Given the description of an element on the screen output the (x, y) to click on. 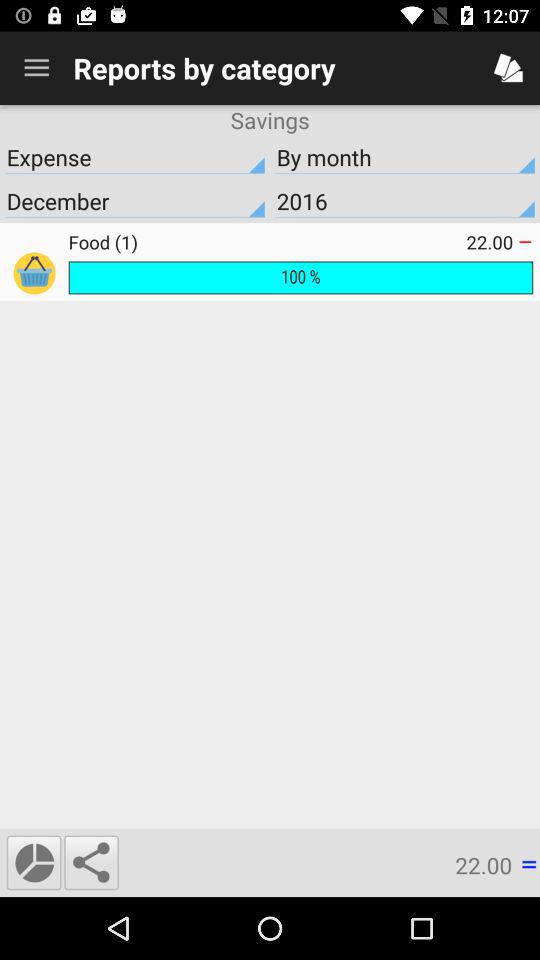
tap the food (1) (267, 241)
